Given the description of an element on the screen output the (x, y) to click on. 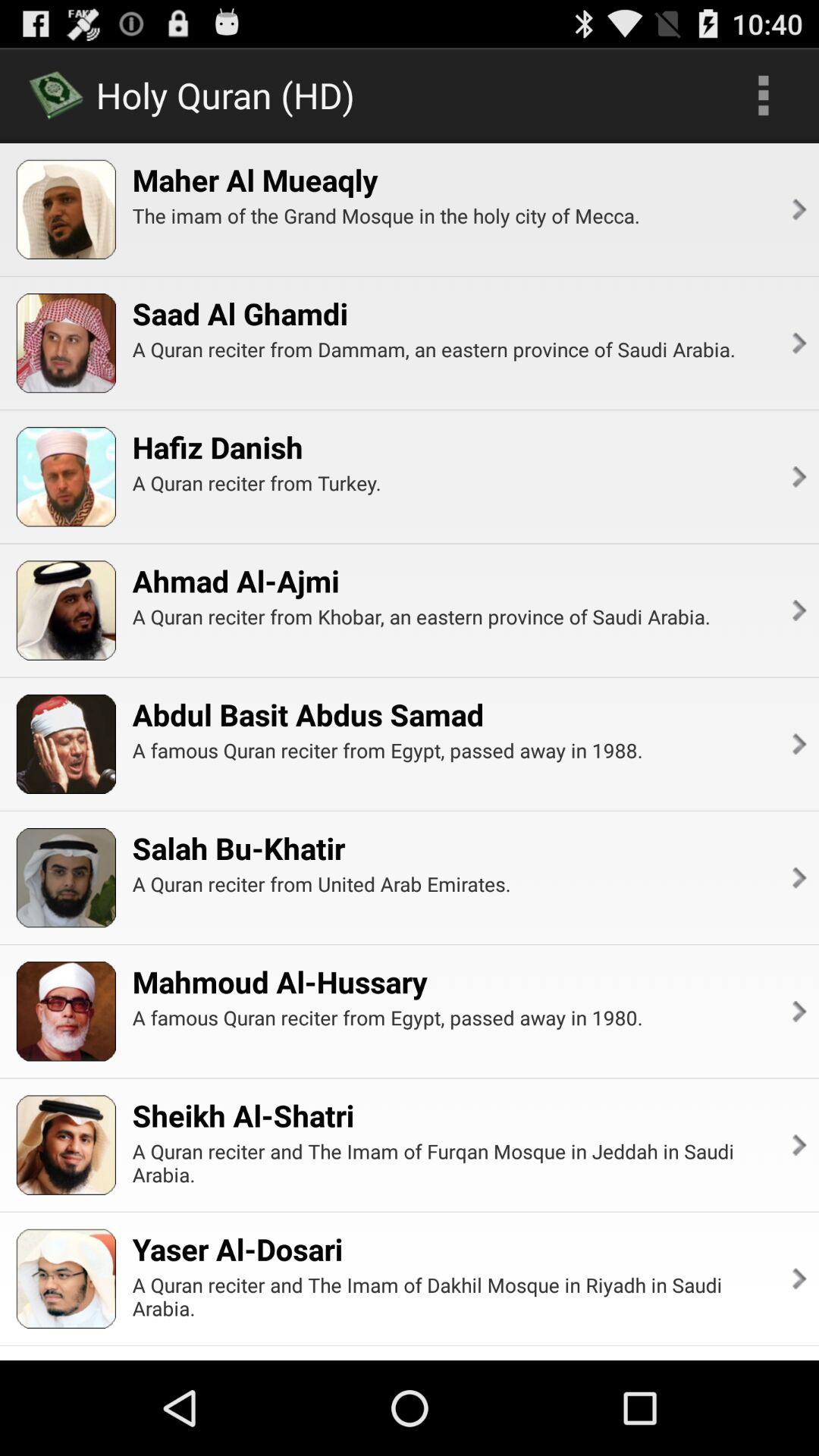
turn off the icon to the right of the a quran reciter app (797, 1278)
